Given the description of an element on the screen output the (x, y) to click on. 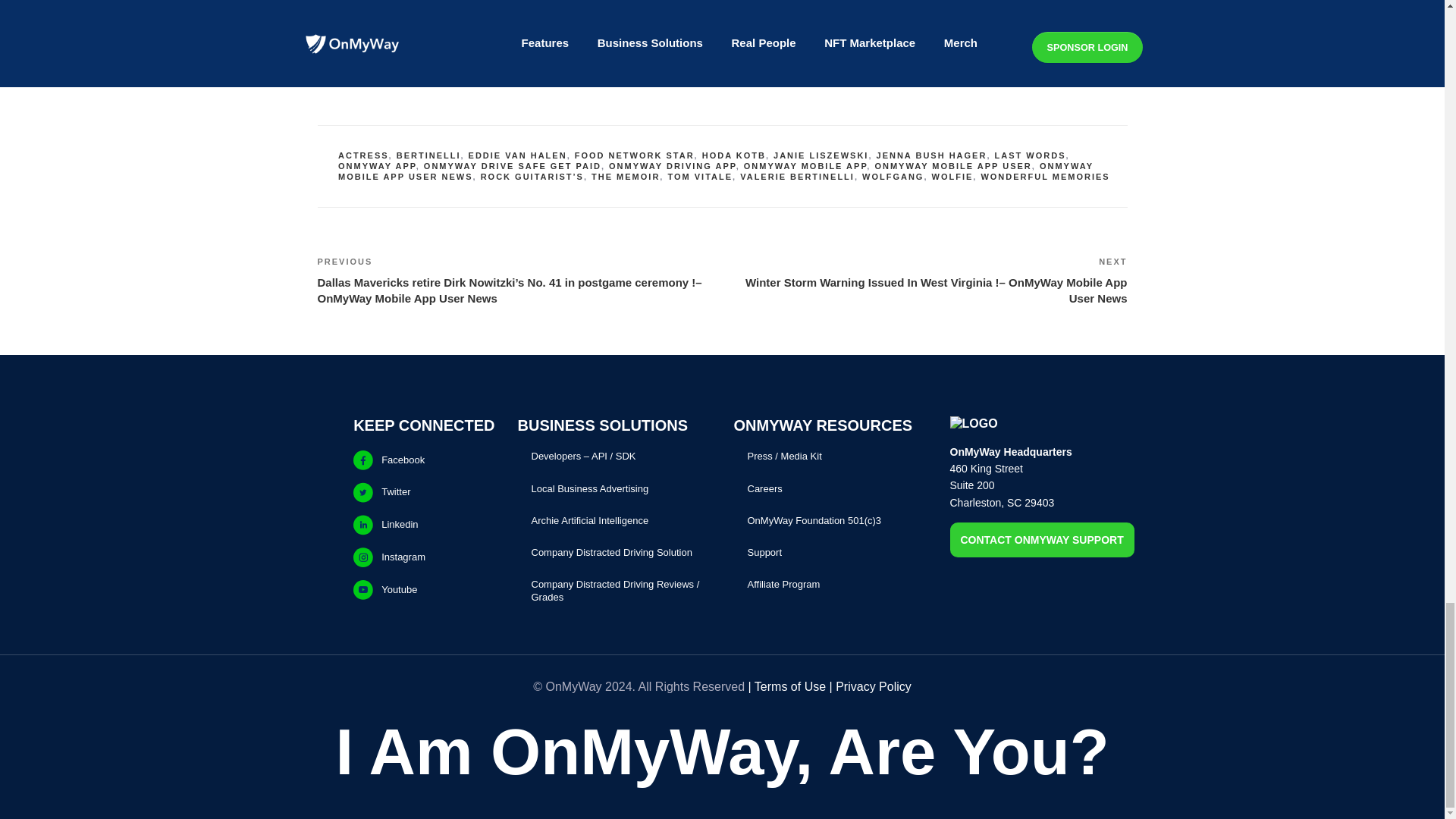
ACTRESS (362, 154)
HODA KOTB (733, 154)
FOOD NETWORK STAR (634, 154)
ONMYWAY DRIVE SAFE GET PAID (512, 165)
ONMYWAY MOBILE APP USER NEWS (715, 170)
BERTINELLI (428, 154)
ONMYWAY MOBILE APP USER (952, 165)
TOM VITALE (699, 175)
ONMYWAY DRIVING APP (672, 165)
WOLFIE (952, 175)
ONMYWAY APP (376, 165)
ONMYWAY MOBILE APP (805, 165)
THE MEMOIR (625, 175)
WONDERFUL MEMORIES (1044, 175)
EDDIE VAN HALEN (517, 154)
